Given the description of an element on the screen output the (x, y) to click on. 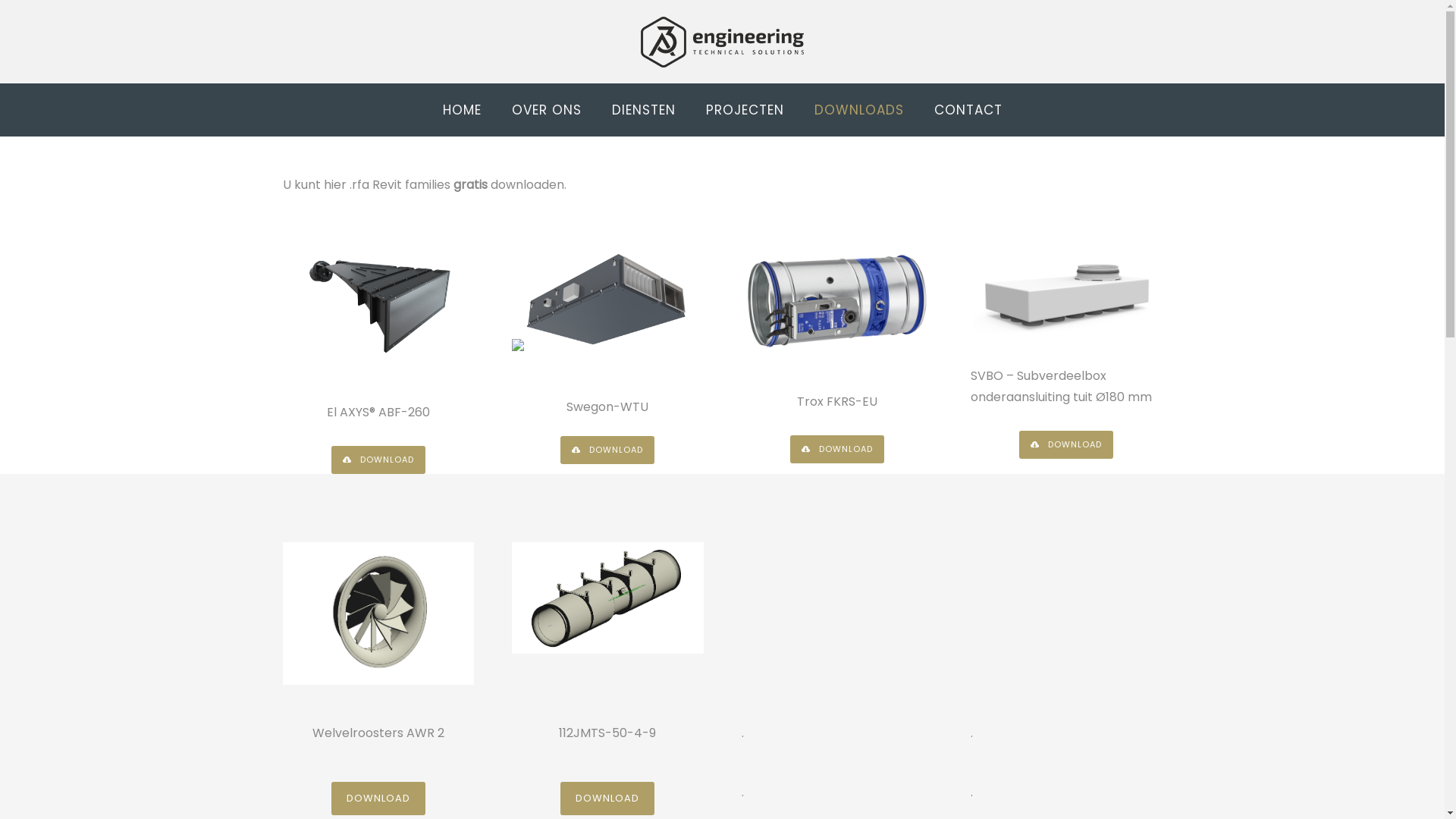
HVBO-63-180_photo[1] Element type: hover (1066, 287)
DIENSTEN Element type: text (643, 109)
axys_abf260_download Element type: hover (377, 302)
DOWNLOAD Element type: text (1066, 444)
00240984_0[1] Element type: hover (837, 300)
OVER ONS Element type: text (545, 109)
112JMTS-50-4-9 Element type: hover (607, 597)
DOWNLOAD Element type: text (837, 449)
PROJECTEN Element type: text (744, 109)
HOME Element type: text (461, 109)
DOWNLOAD Element type: text (607, 450)
Welvelroosters-AWR-2 Element type: hover (377, 613)
DOWNLOAD Element type: text (607, 798)
DOWNLOAD Element type: text (378, 798)
CONTACT Element type: text (968, 109)
DOWNLOADS Element type: text (859, 109)
Swegon-WTU_1-1600 Element type: hover (607, 295)
DOWNLOAD Element type: text (378, 459)
